Given the description of an element on the screen output the (x, y) to click on. 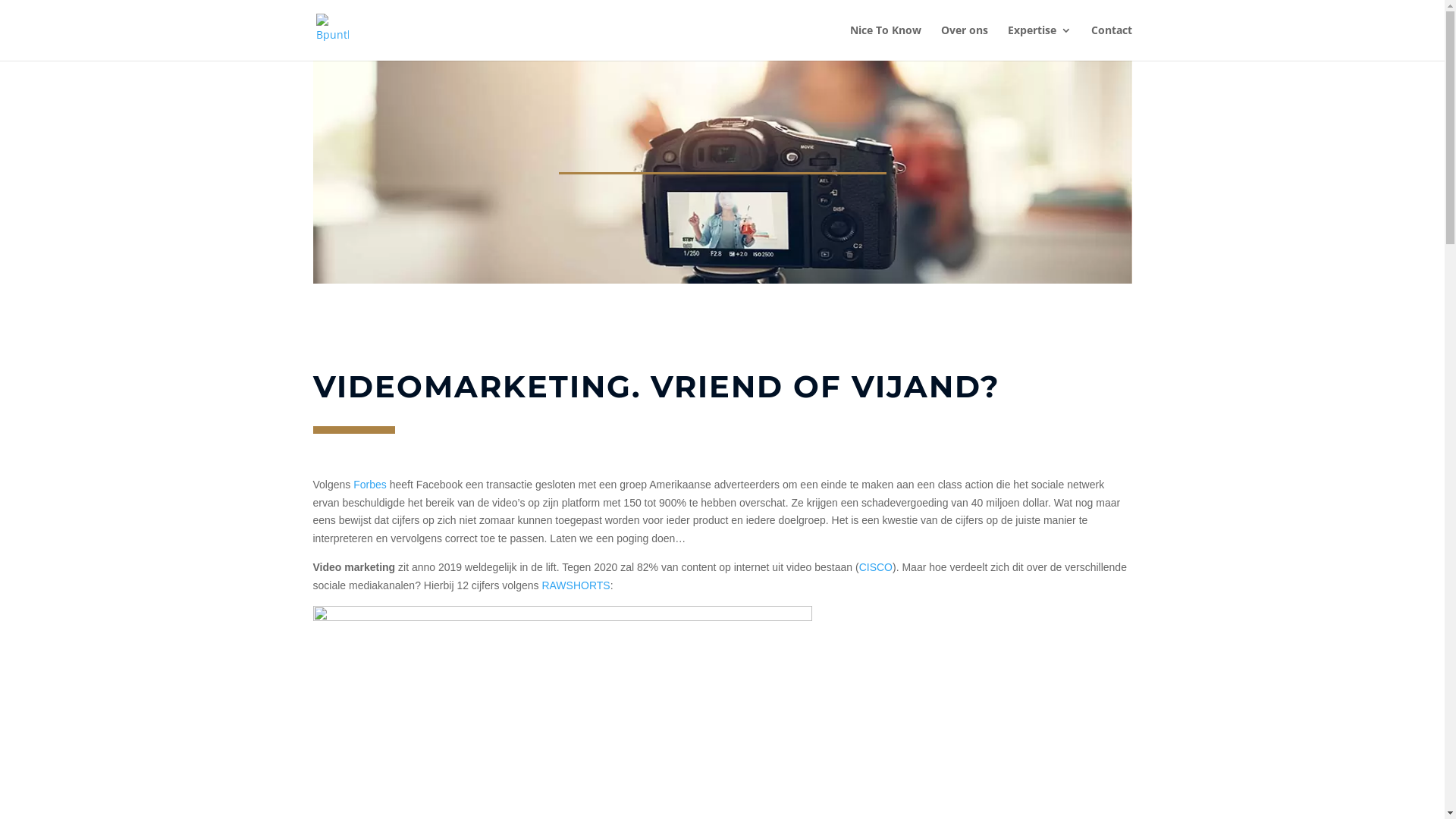
CISCO Element type: text (875, 567)
Contact Element type: text (1110, 42)
Nice To Know Element type: text (884, 42)
Expertise Element type: text (1038, 42)
RAWSHORTS Element type: text (575, 585)
Forbes Element type: text (369, 484)
Over ons Element type: text (963, 42)
